Given the description of an element on the screen output the (x, y) to click on. 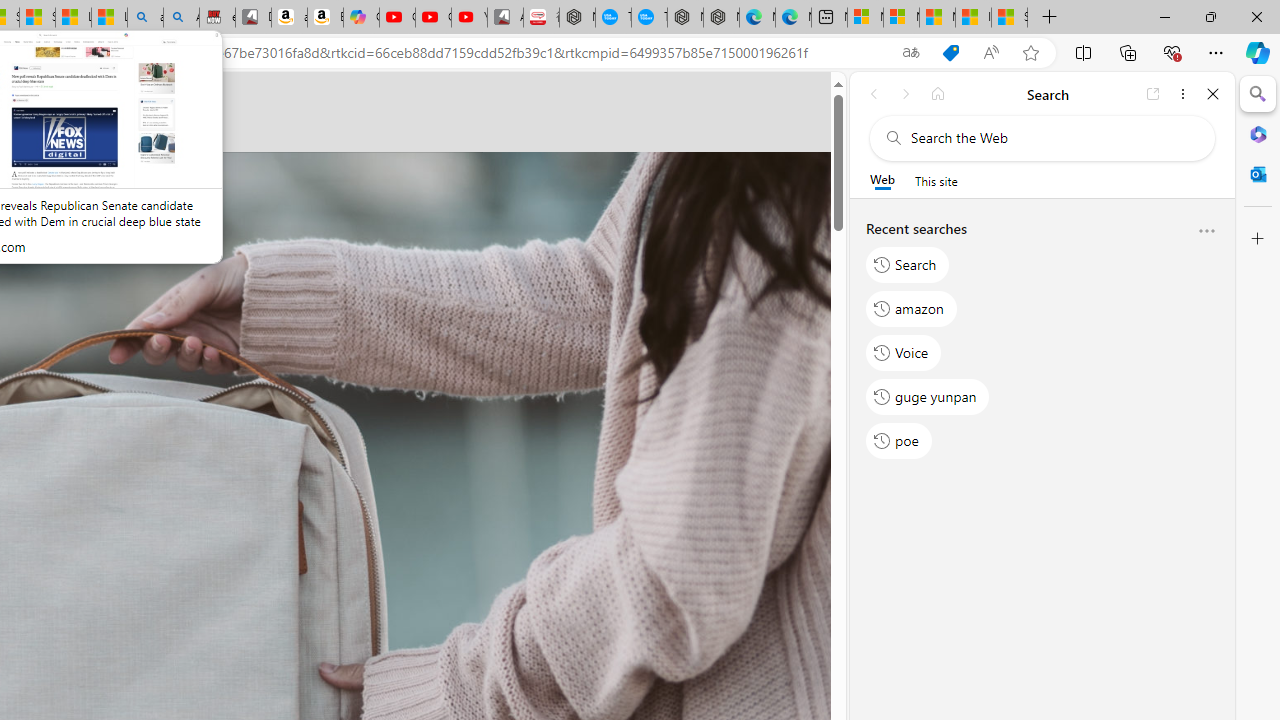
guge yunpan (927, 396)
Web scope (882, 180)
Show translate options (910, 53)
Search the web (1051, 137)
Microsoft 365 (1258, 133)
amazon.in/dp/B0CX59H5W7/?tag=gsmcom05-21 (289, 17)
Nordace - Nordace has arrived Hong Kong (721, 17)
